Given the description of an element on the screen output the (x, y) to click on. 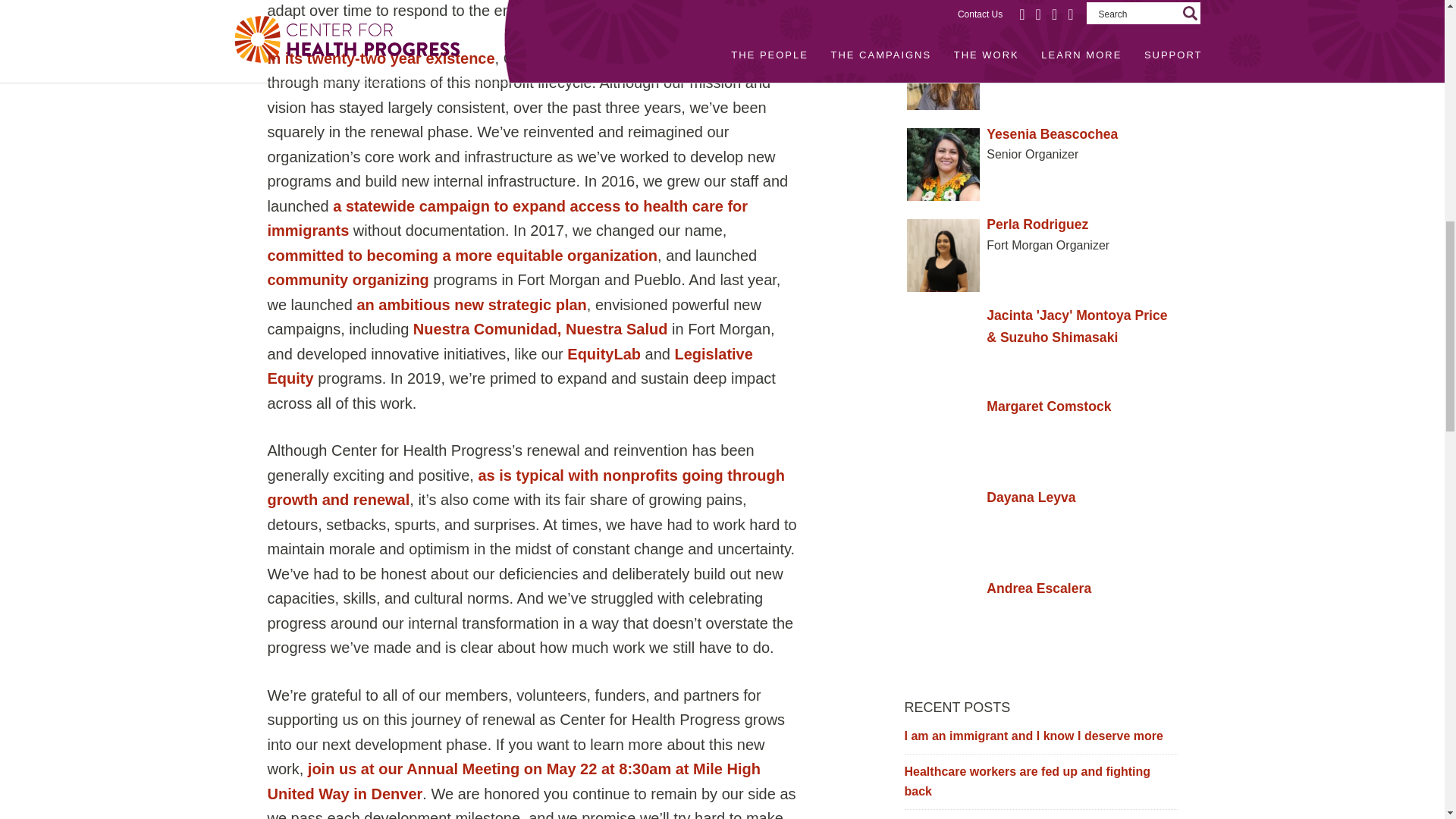
Yesenia Beascochea (1040, 134)
Margaret Comstock (1040, 406)
Perla Rodriguez (1040, 224)
committed to becoming a more equitable organization (462, 255)
Andrea Escalera (1040, 588)
In its twenty-two year existence (380, 57)
an ambitious new strategic plan (471, 304)
Carly Weisenberg (1040, 43)
Dayana Leyva (1040, 497)
community organizing (347, 279)
Nuestra Comunidad, Nuestra Salud (540, 329)
